Given the description of an element on the screen output the (x, y) to click on. 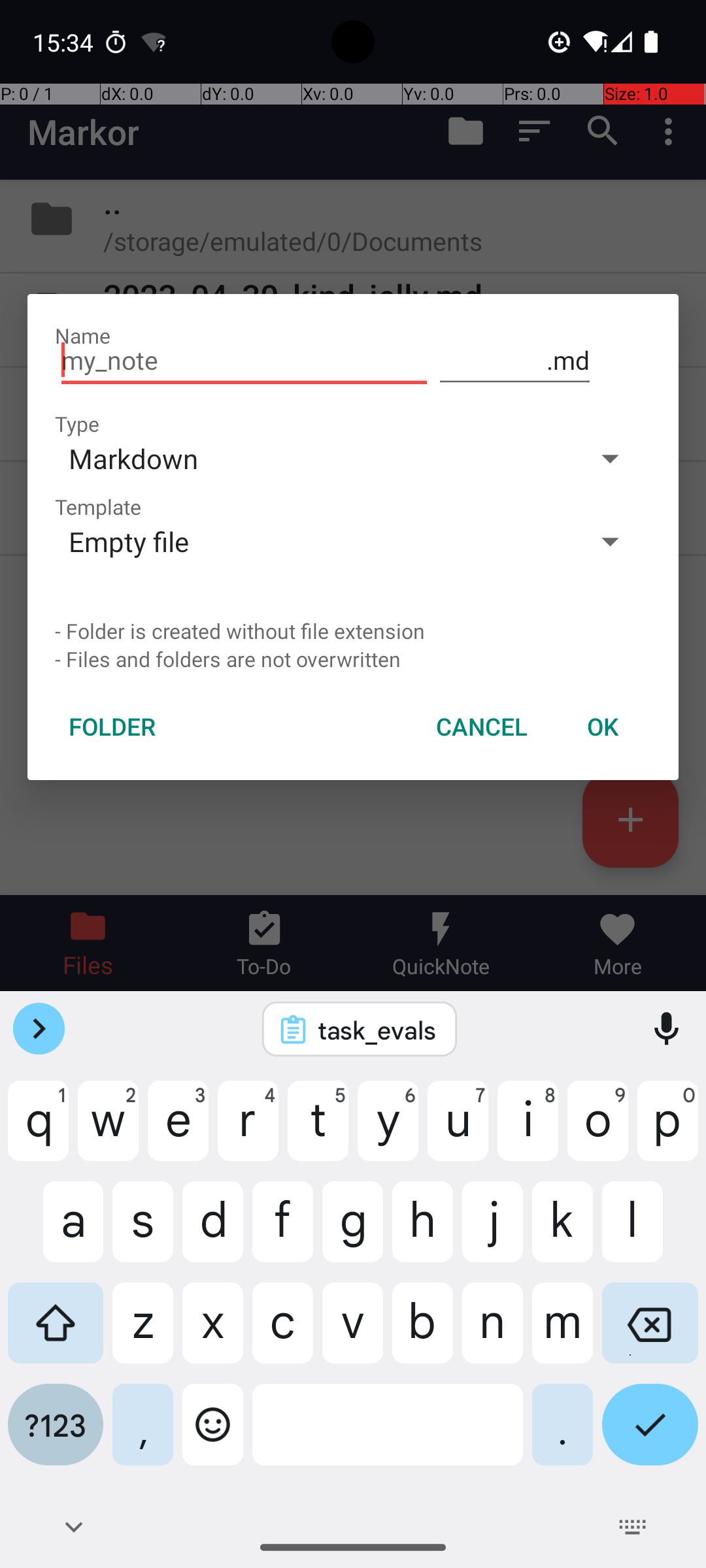
task_evals Element type: android.widget.TextView (376, 1029)
